Given the description of an element on the screen output the (x, y) to click on. 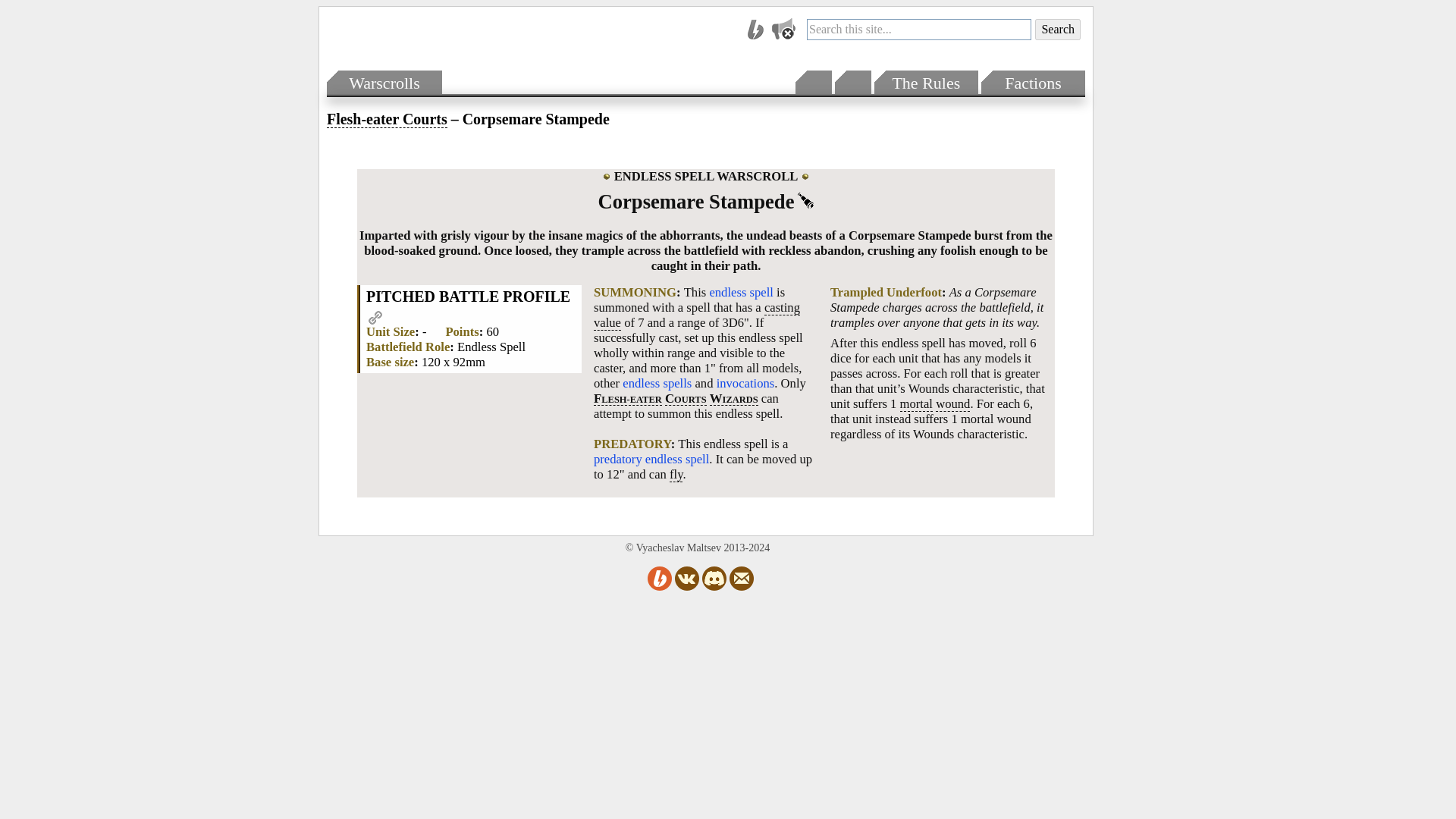
Search (1057, 29)
